Given the description of an element on the screen output the (x, y) to click on. 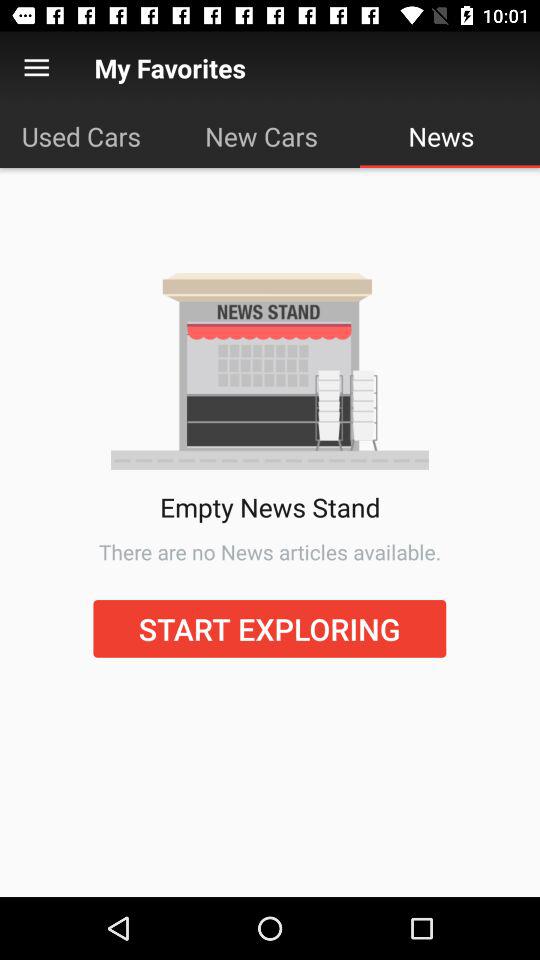
options list (36, 68)
